Given the description of an element on the screen output the (x, y) to click on. 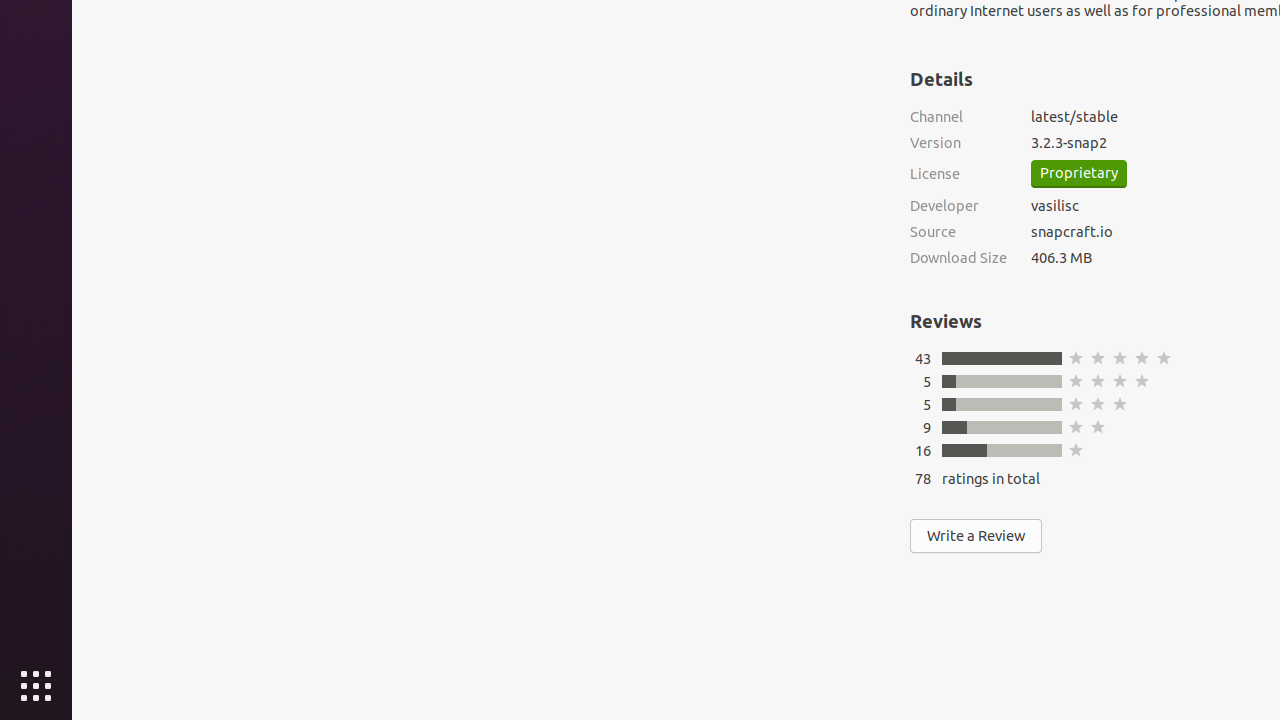
Details Element type: label (941, 79)
43 Element type: label (923, 358)
